Given the description of an element on the screen output the (x, y) to click on. 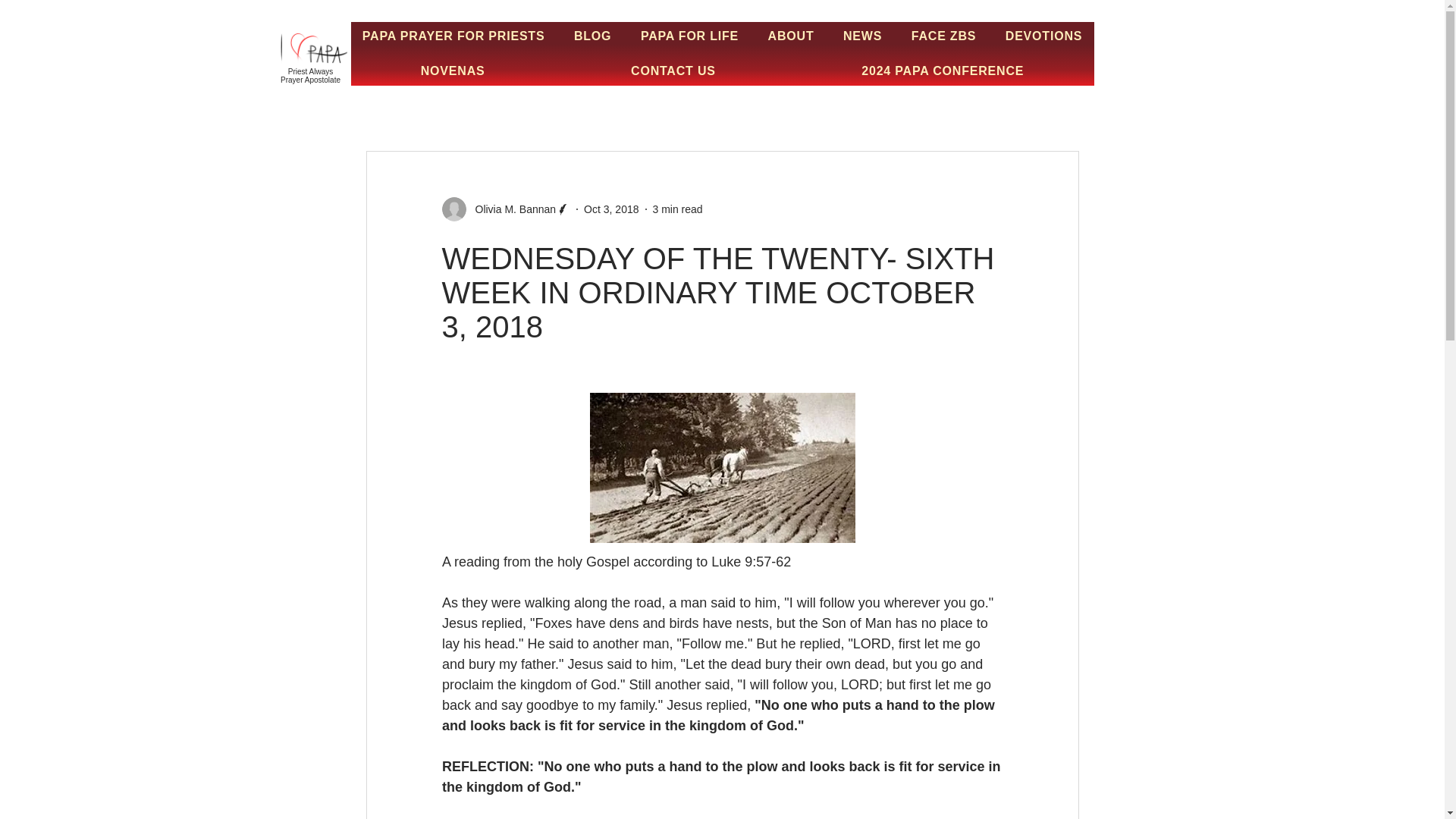
Olivia M. Bannan (510, 209)
Oct 3, 2018 (611, 209)
3 min read (676, 209)
Olivia M. Bannan (505, 209)
NEWS (862, 36)
